Given the description of an element on the screen output the (x, y) to click on. 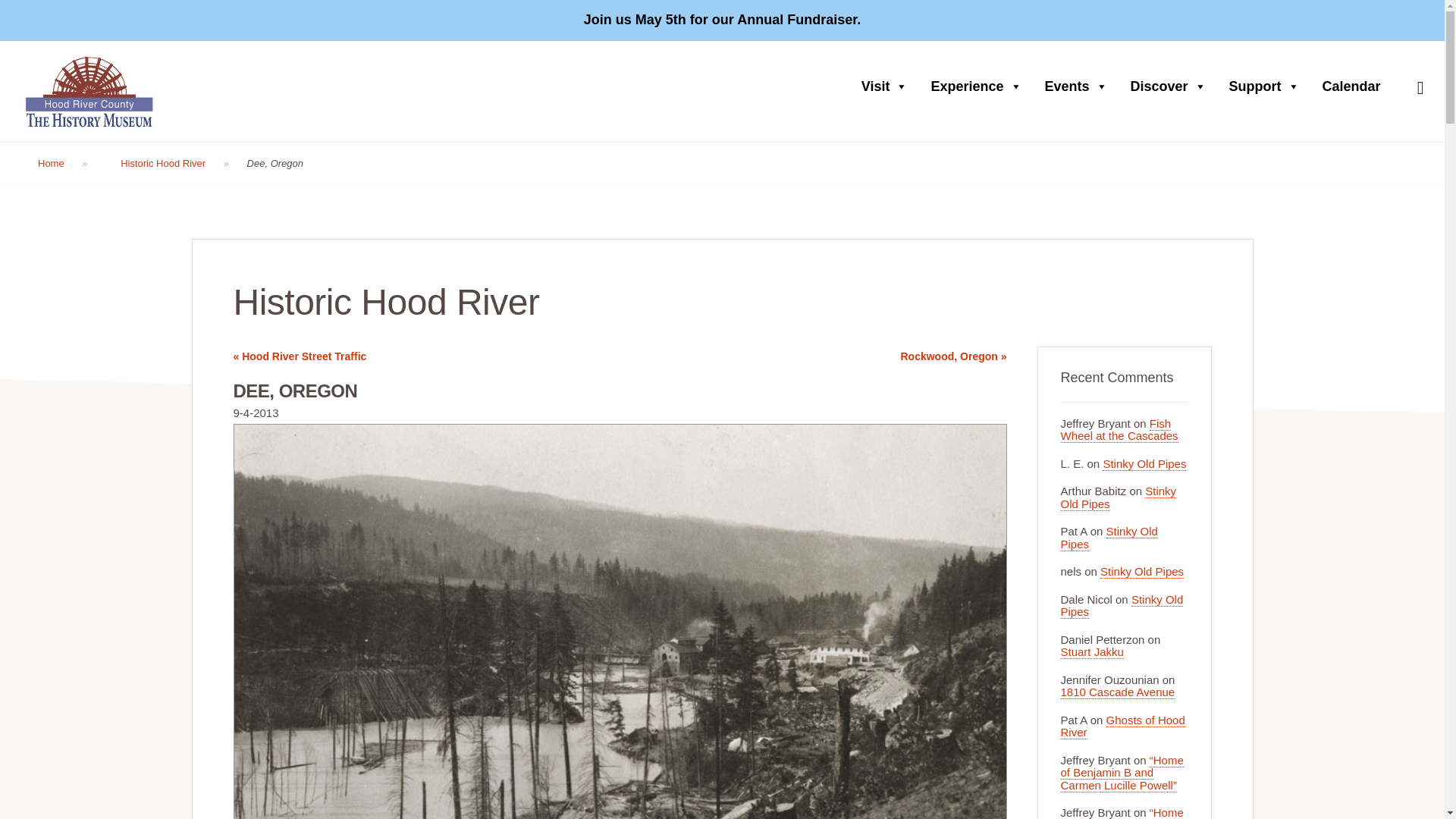
Experience (979, 86)
Calendar (1355, 86)
Events (1079, 86)
Visit (888, 86)
Historic Hood River (174, 163)
Subscribe (1043, 737)
Support (1267, 86)
Donate (1282, 20)
Become A Member (1366, 20)
Discover (1171, 86)
Home (63, 163)
